Given the description of an element on the screen output the (x, y) to click on. 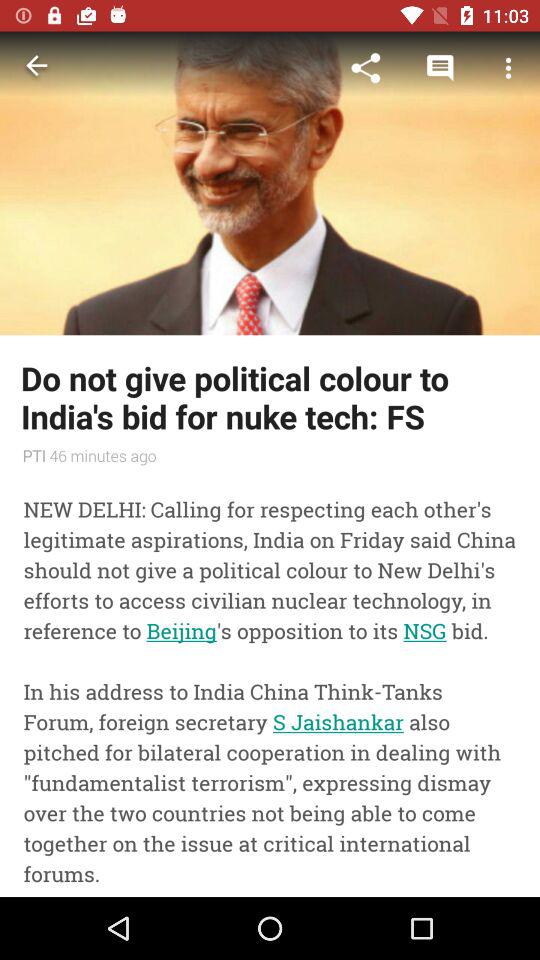
select the icon above do not give item (36, 68)
